Given the description of an element on the screen output the (x, y) to click on. 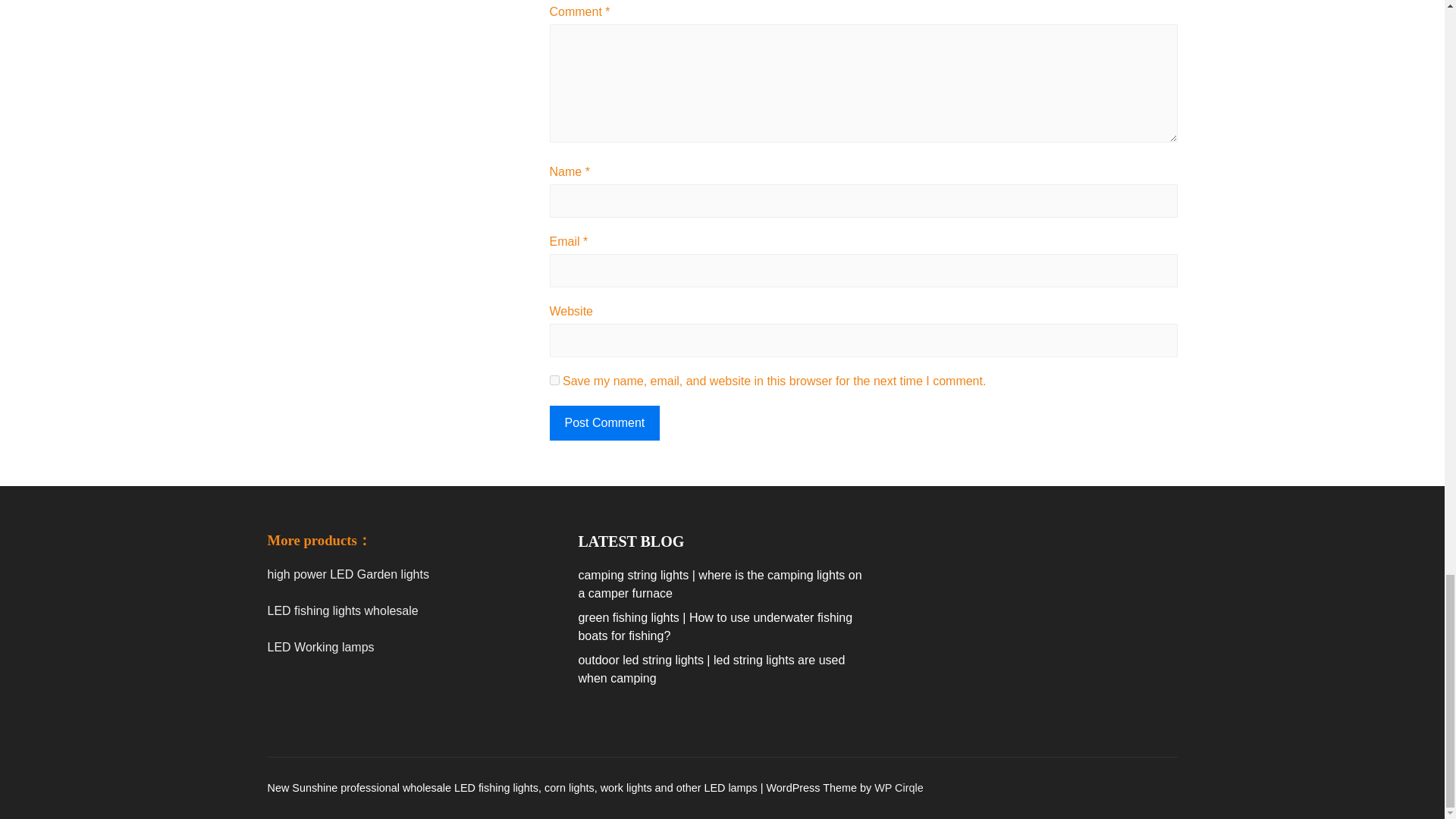
yes (553, 379)
WP Cirqle (899, 787)
LED fishing lights wholesale (341, 610)
Post Comment (603, 422)
Post Comment (603, 422)
high power LED Garden lights (347, 574)
LED Working lamps (320, 646)
